Given the description of an element on the screen output the (x, y) to click on. 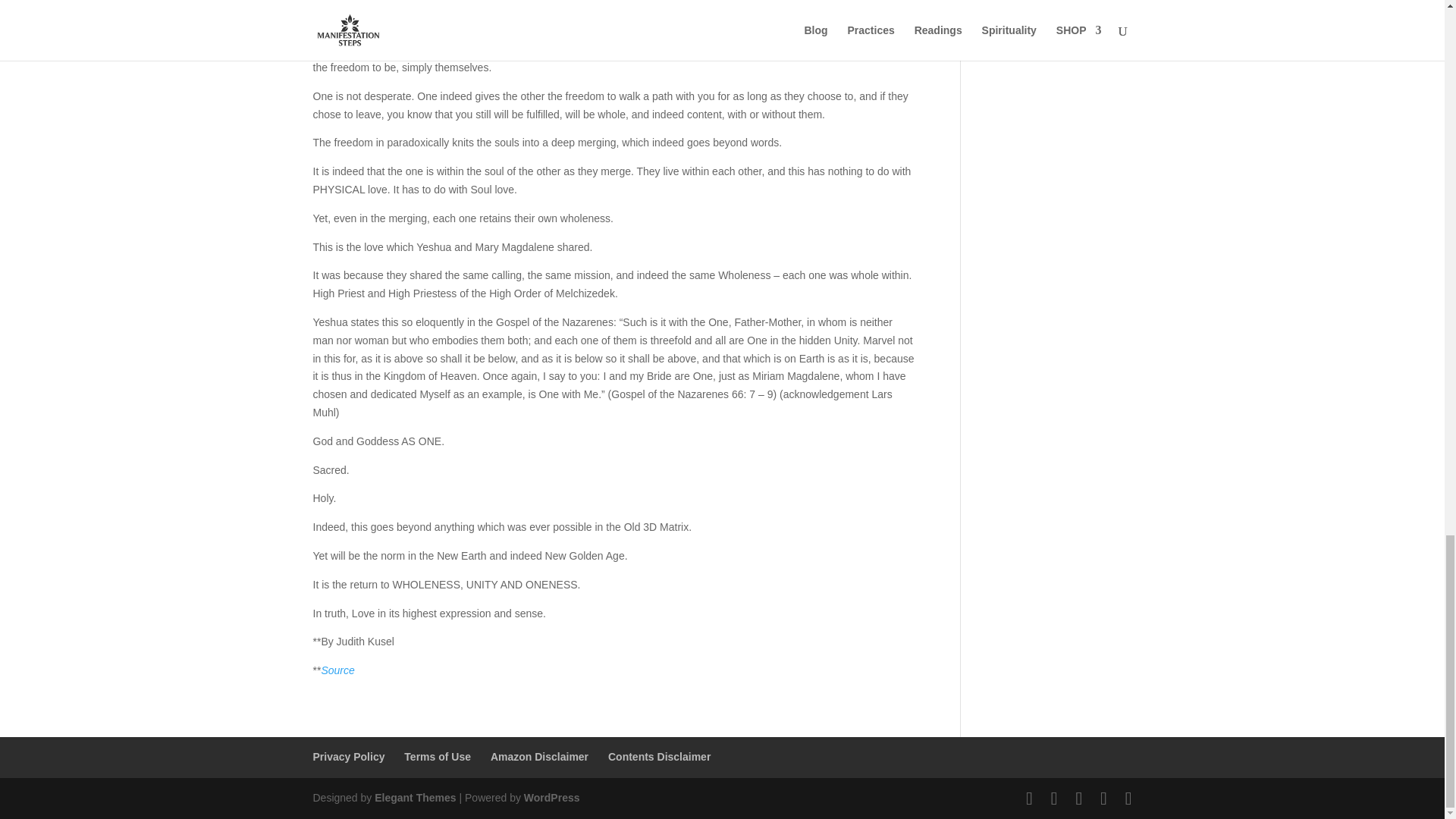
Source (336, 670)
Terms of Use (437, 756)
Privacy Policy (348, 756)
Contents Disclaimer (659, 756)
Amazon Disclaimer (539, 756)
Premium WordPress Themes (414, 797)
